Given the description of an element on the screen output the (x, y) to click on. 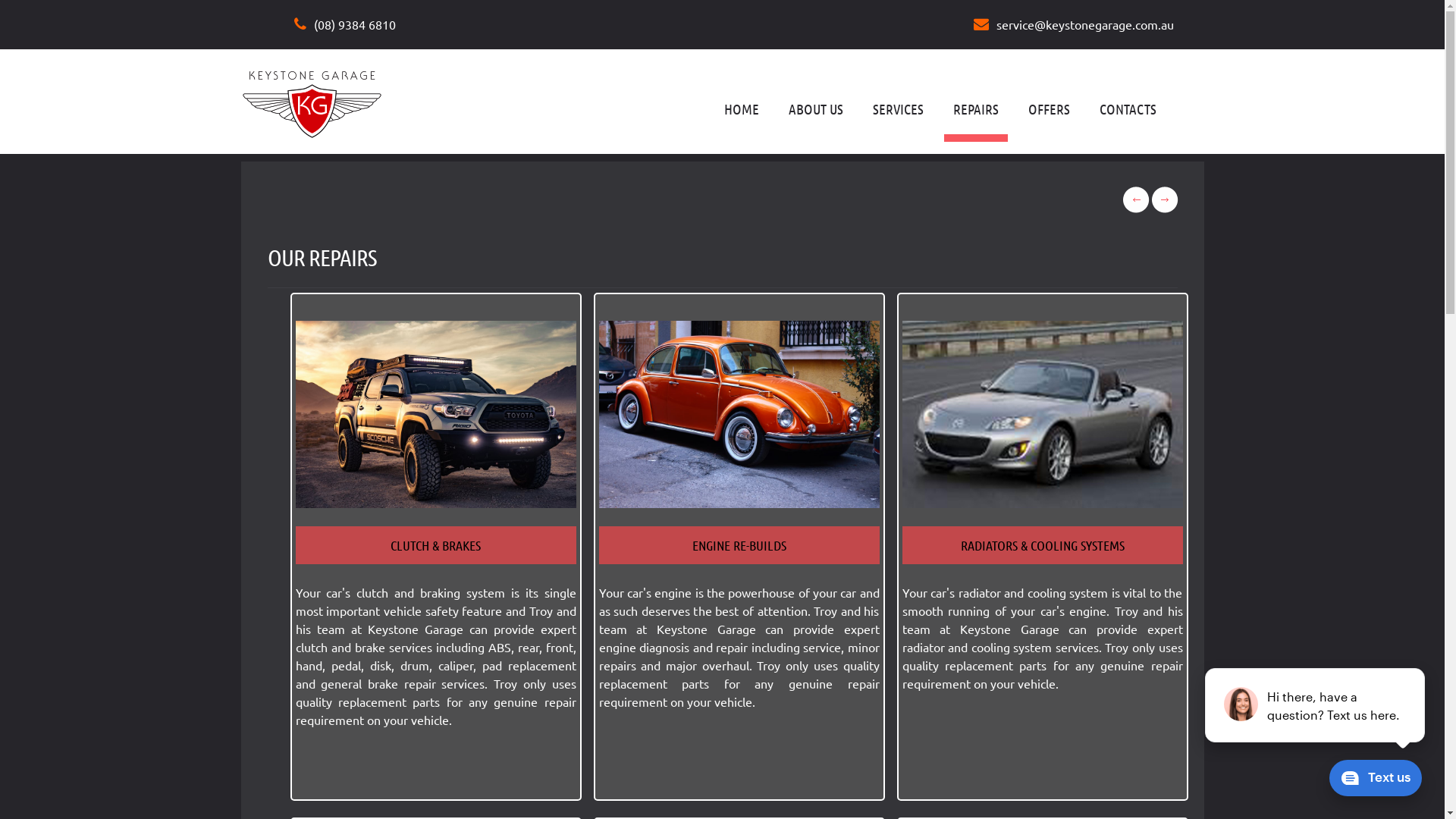
HOME Element type: text (740, 108)
CLUTCH & BRAKES Element type: text (435, 544)
ABOUT US Element type: text (815, 108)
CONTACTS Element type: text (1127, 108)
(08) 9384 6810 Element type: text (344, 23)
service@keystonegarage.com.au Element type: text (1073, 23)
SERVICES Element type: text (896, 108)
OFFERS Element type: text (1049, 108)
REPAIRS Element type: text (975, 108)
podium webchat widget prompt Element type: hover (1315, 705)
RADIATORS & COOLING SYSTEMS Element type: text (1041, 544)
ENGINE RE-BUILDS Element type: text (738, 544)
